Given the description of an element on the screen output the (x, y) to click on. 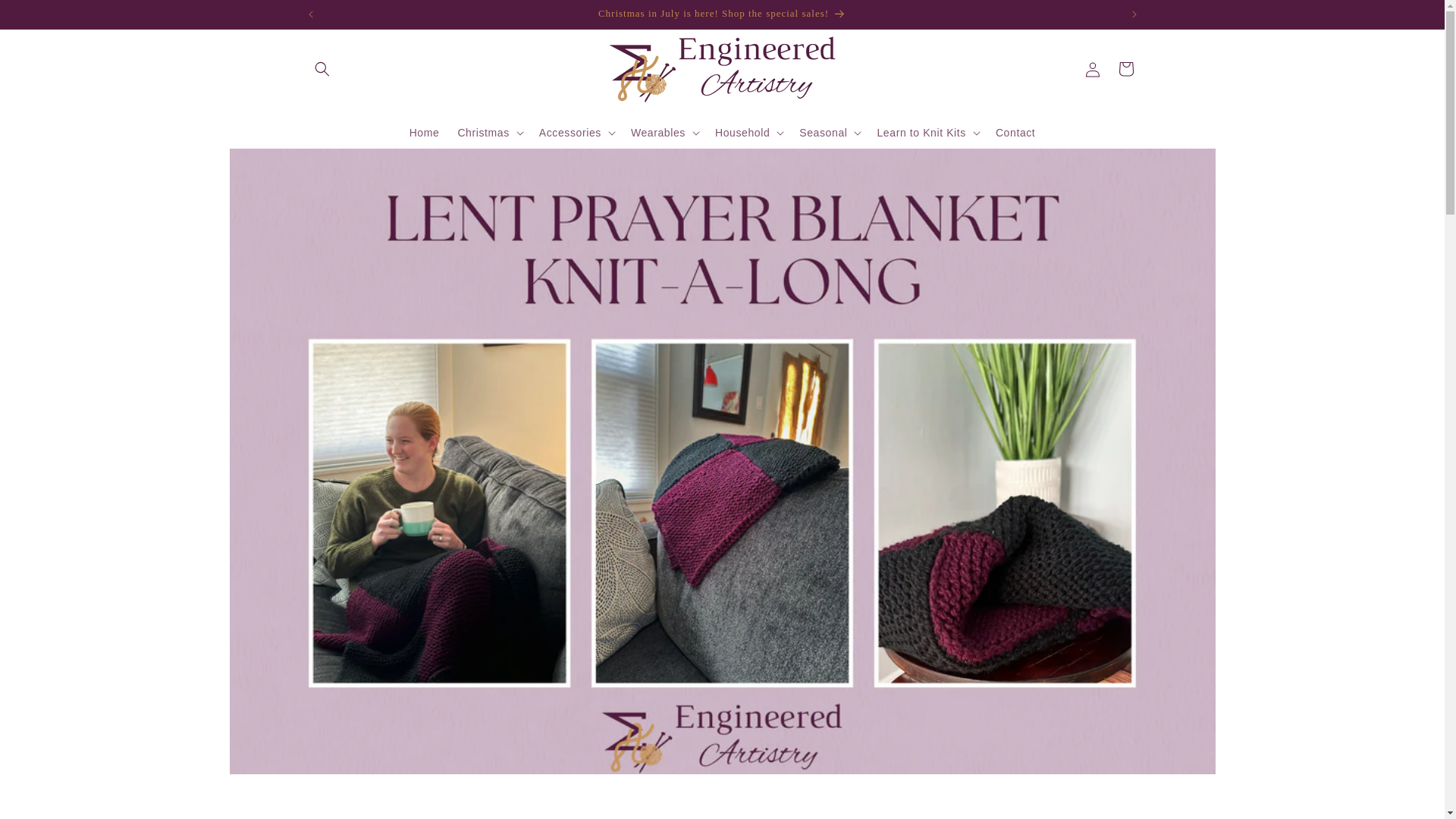
Christmas in July is here! Shop the special sales! (721, 815)
Skip to content (722, 14)
